Given the description of an element on the screen output the (x, y) to click on. 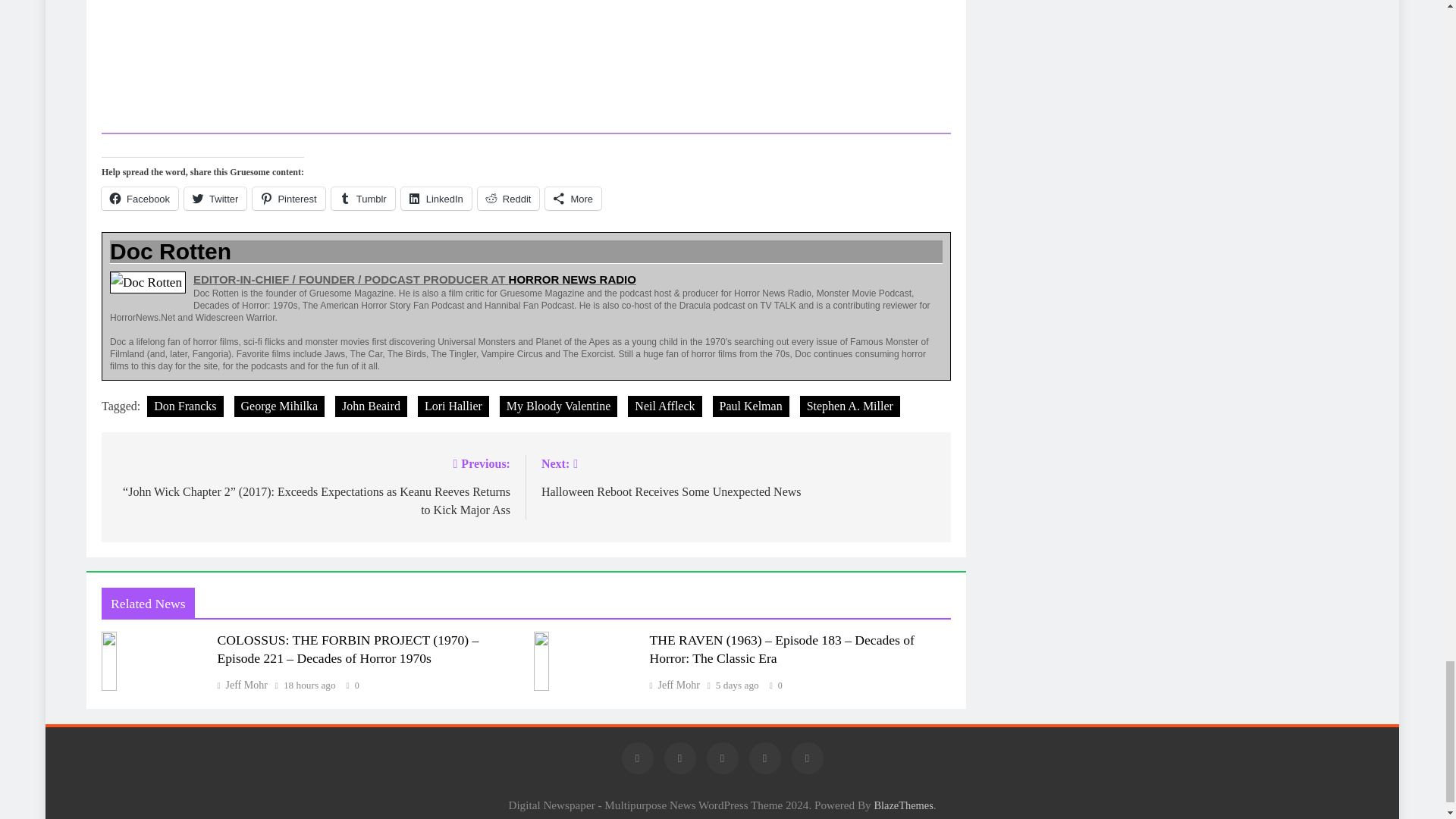
Click to share on Twitter (215, 198)
Click to share on Reddit (508, 198)
Click to share on Pinterest (287, 198)
Click to share on LinkedIn (436, 198)
Click to share on Facebook (139, 198)
Click to share on Tumblr (362, 198)
